Given the description of an element on the screen output the (x, y) to click on. 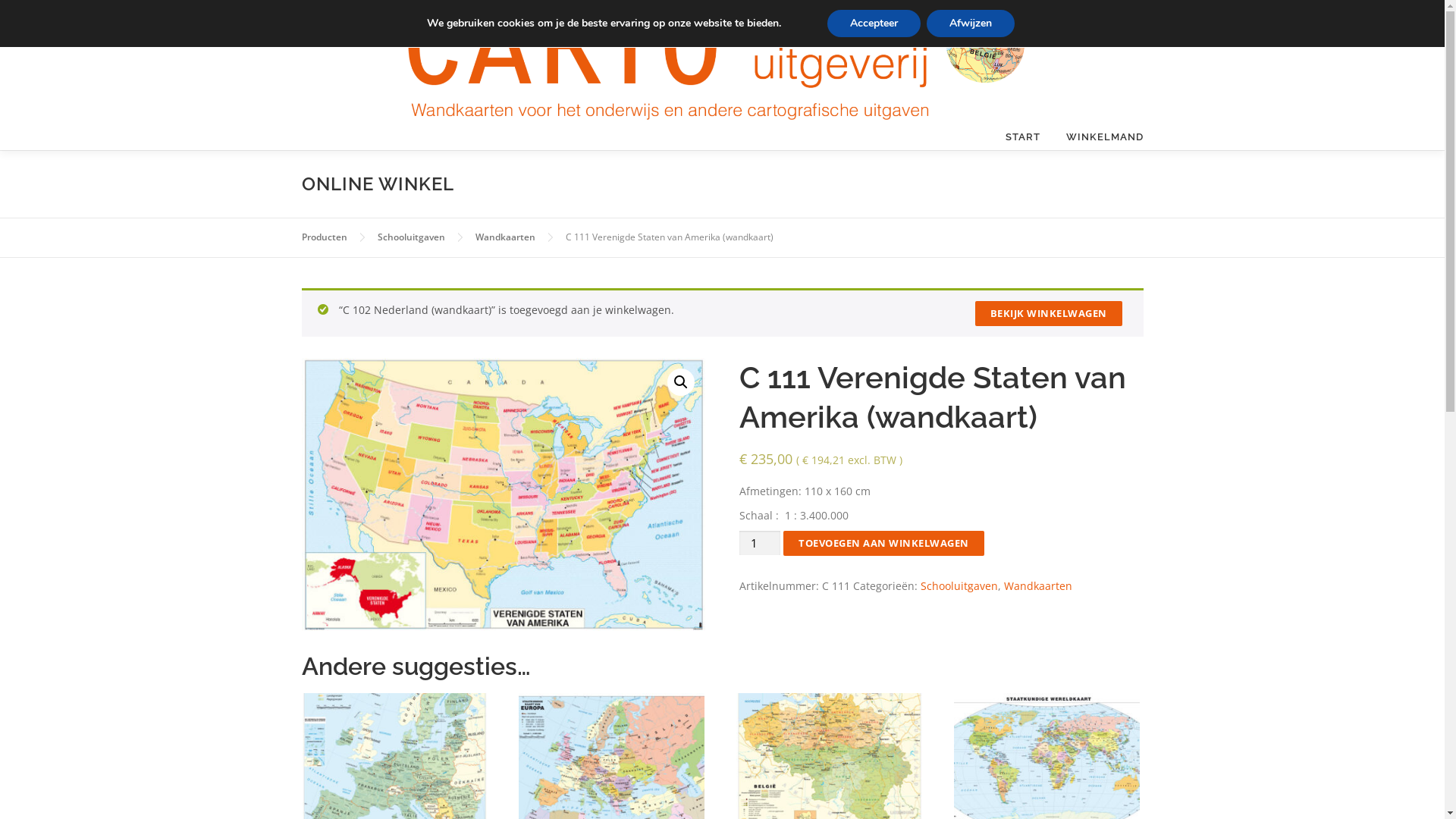
Producten Element type: text (324, 236)
START Element type: text (1021, 136)
Schooluitgaven Element type: text (958, 585)
Afwijzen Element type: text (970, 23)
WINKELMAND Element type: text (1097, 136)
Wandkaarten Element type: text (1038, 585)
Accepteer Element type: text (873, 23)
Wandkaarten Element type: text (504, 236)
Schooluitgaven Element type: text (411, 236)
C 111 Verenigde Staten Element type: hover (503, 494)
BEKIJK WINKELWAGEN Element type: text (1048, 313)
TOEVOEGEN AAN WINKELWAGEN Element type: text (883, 542)
